Given the description of an element on the screen output the (x, y) to click on. 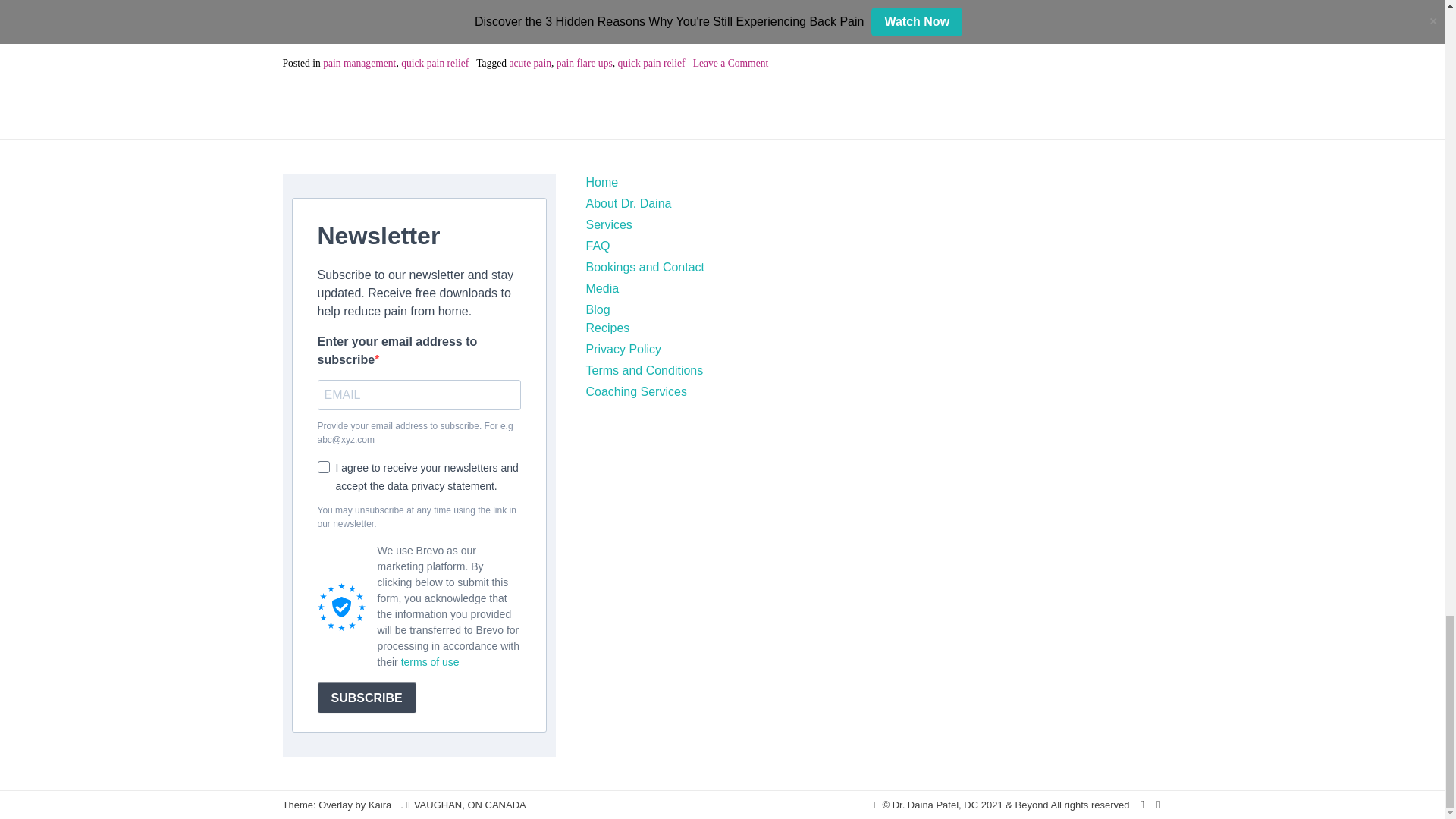
acute pain (529, 62)
Please read the Disclaimer here (792, 27)
quick pain relief (651, 62)
pain flare ups (584, 62)
pain management (359, 62)
quick pain relief (434, 62)
